Given the description of an element on the screen output the (x, y) to click on. 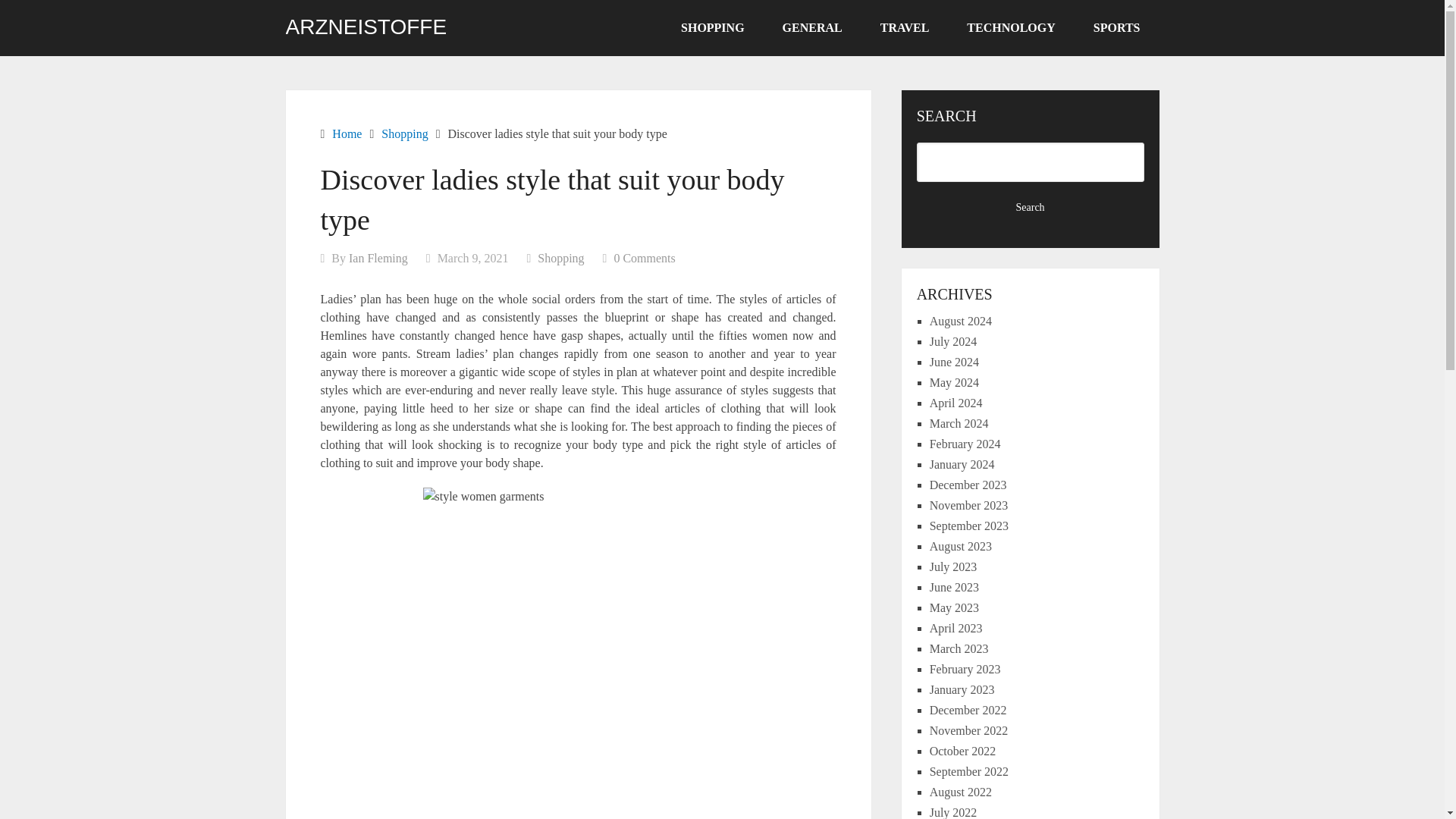
June 2024 (954, 361)
November 2023 (969, 504)
November 2022 (969, 730)
Search (1030, 207)
ARZNEISTOFFE (365, 26)
May 2023 (954, 607)
December 2022 (968, 709)
Home (346, 133)
August 2024 (960, 320)
September 2023 (969, 525)
